Given the description of an element on the screen output the (x, y) to click on. 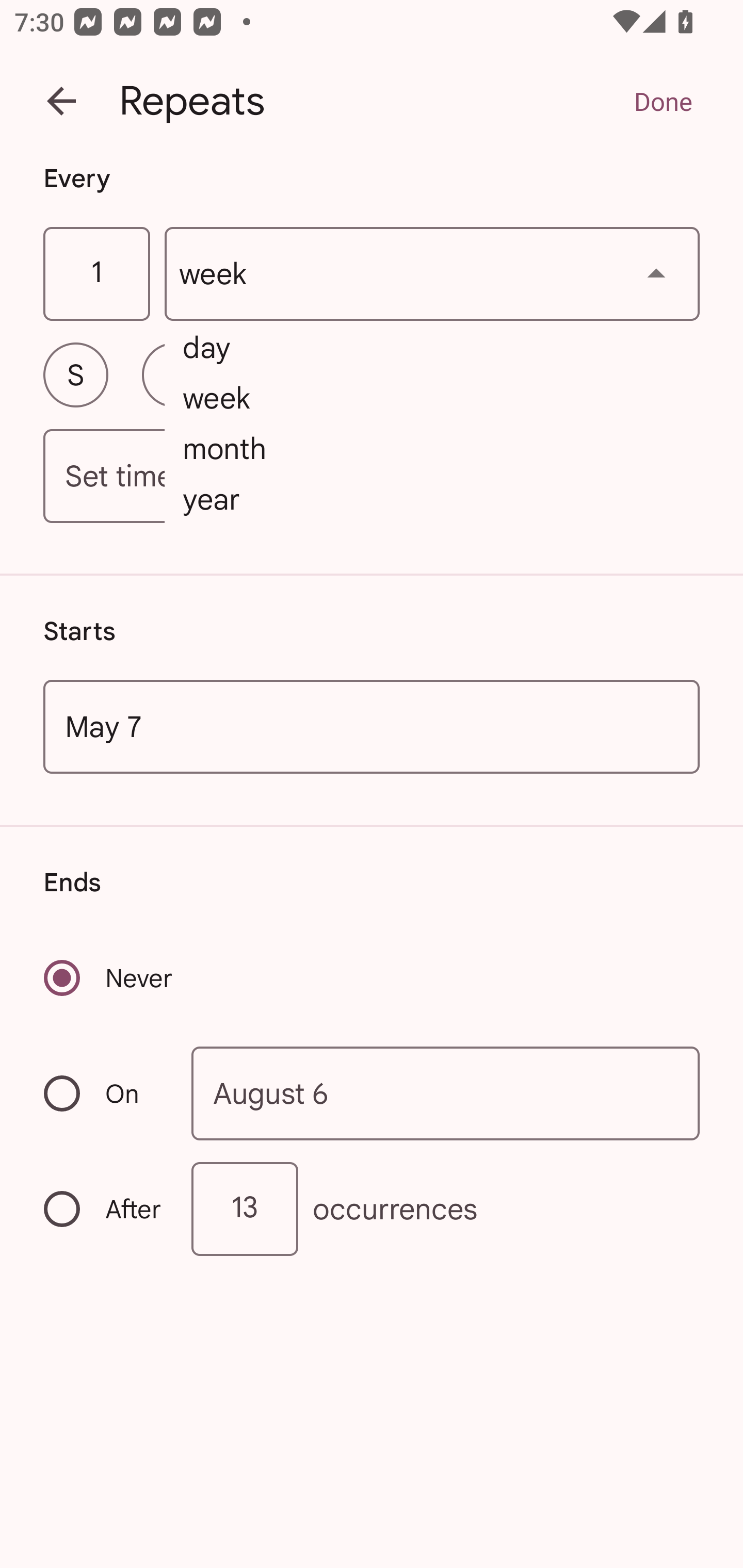
Back (61, 101)
Done (663, 101)
1 (96, 274)
week (431, 274)
Show dropdown menu (655, 273)
S Sunday (75, 374)
Set time (371, 476)
May 7 (371, 726)
Never Recurrence never ends (109, 978)
August 6 (445, 1092)
On Recurrence ends on a specific date (104, 1093)
13 (244, 1208)
